Given the description of an element on the screen output the (x, y) to click on. 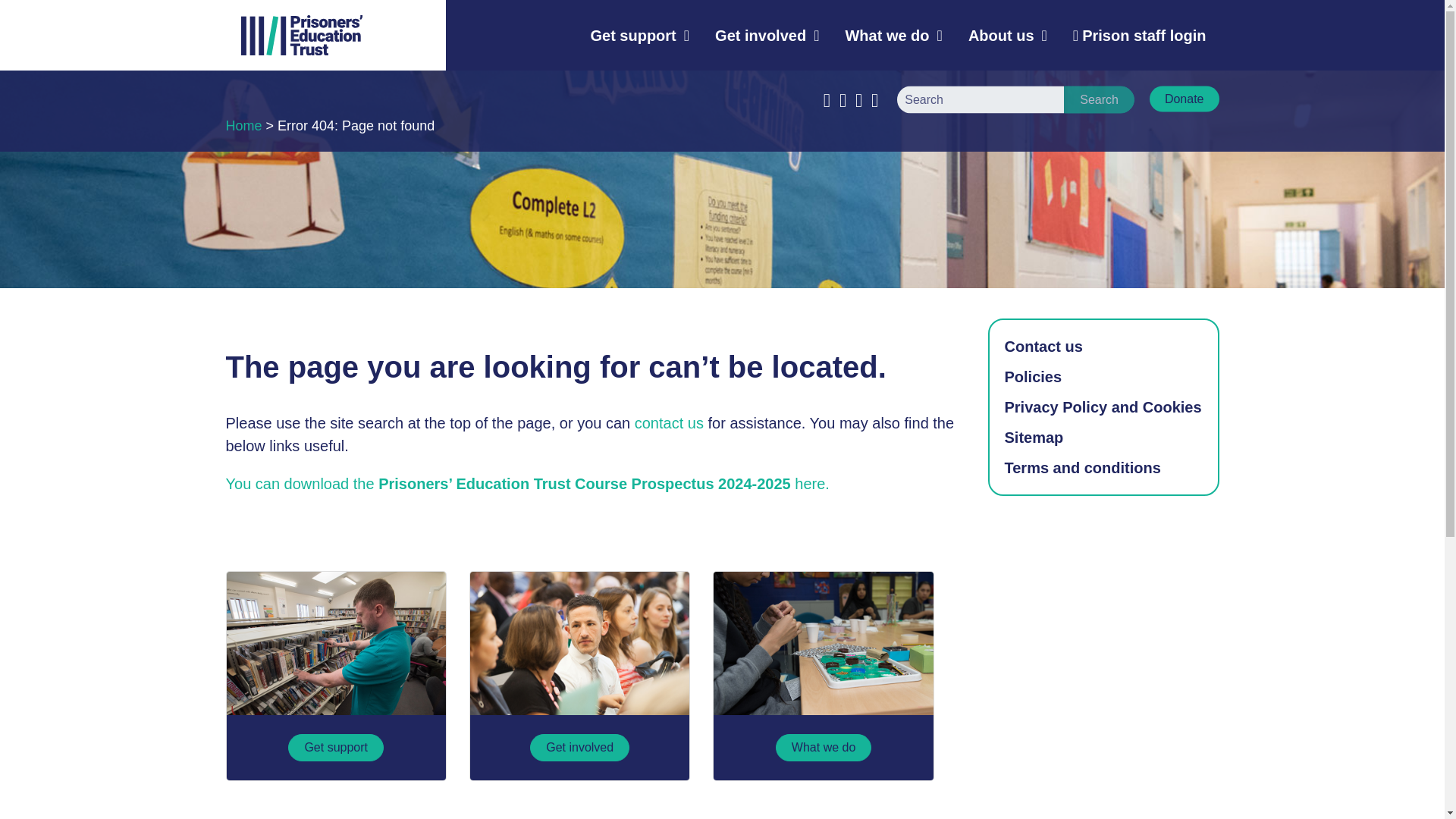
About us (1007, 35)
Donate (1185, 98)
What we do (823, 747)
Get involved (766, 35)
Get involved (578, 747)
Get support (638, 35)
Get involved (579, 642)
Search (1099, 99)
Get support (335, 642)
Get support (336, 747)
What we do (823, 642)
What we do (893, 35)
Search (1099, 99)
